Given the description of an element on the screen output the (x, y) to click on. 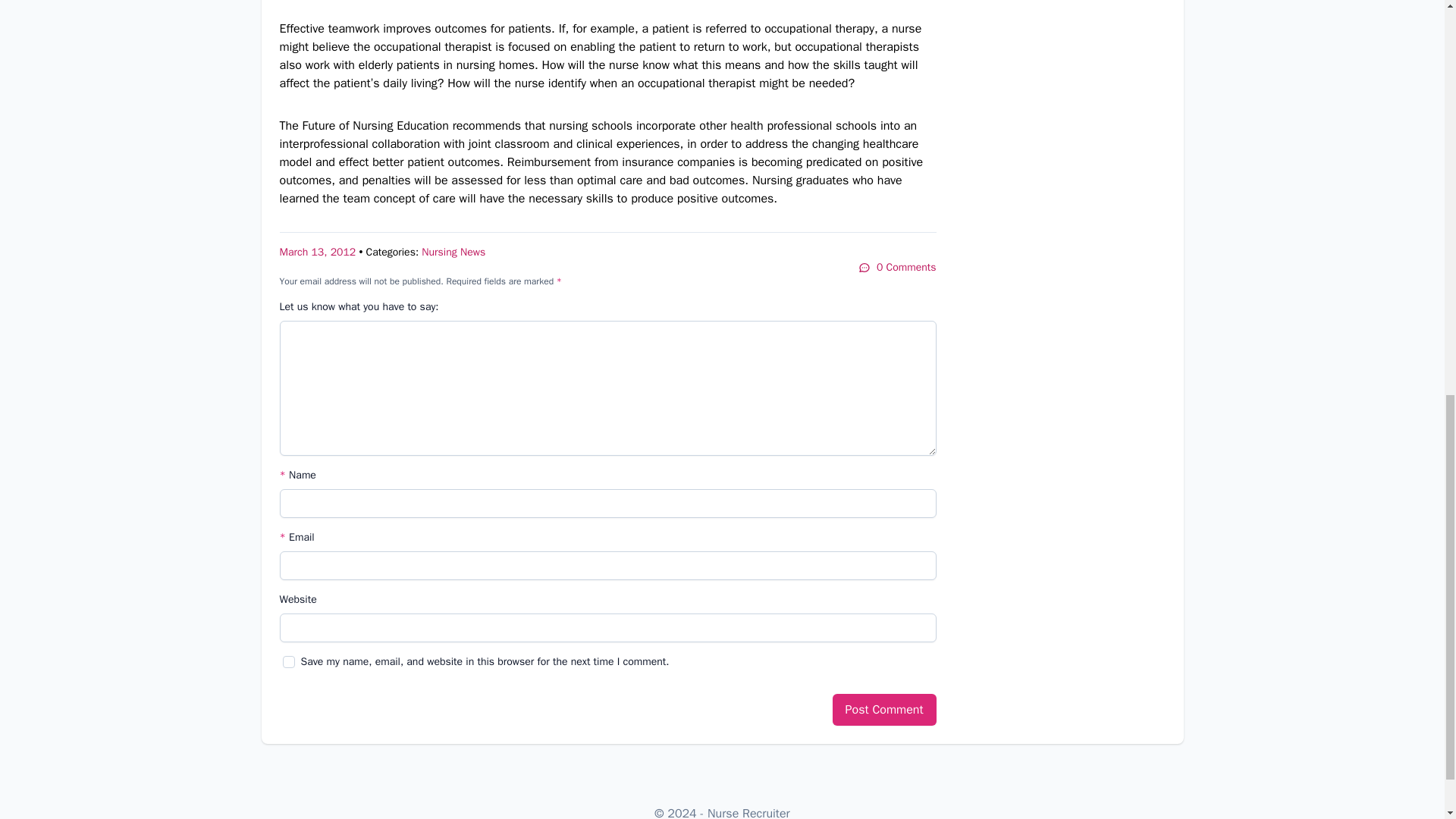
0 Comments (897, 267)
Post Comment (884, 709)
Permalink to Changing the Face of Nursing Education (317, 251)
yes (288, 662)
March 13, 2012 (317, 251)
Post Comment (884, 709)
Nursing News (453, 251)
Go to comment section (897, 267)
